Given the description of an element on the screen output the (x, y) to click on. 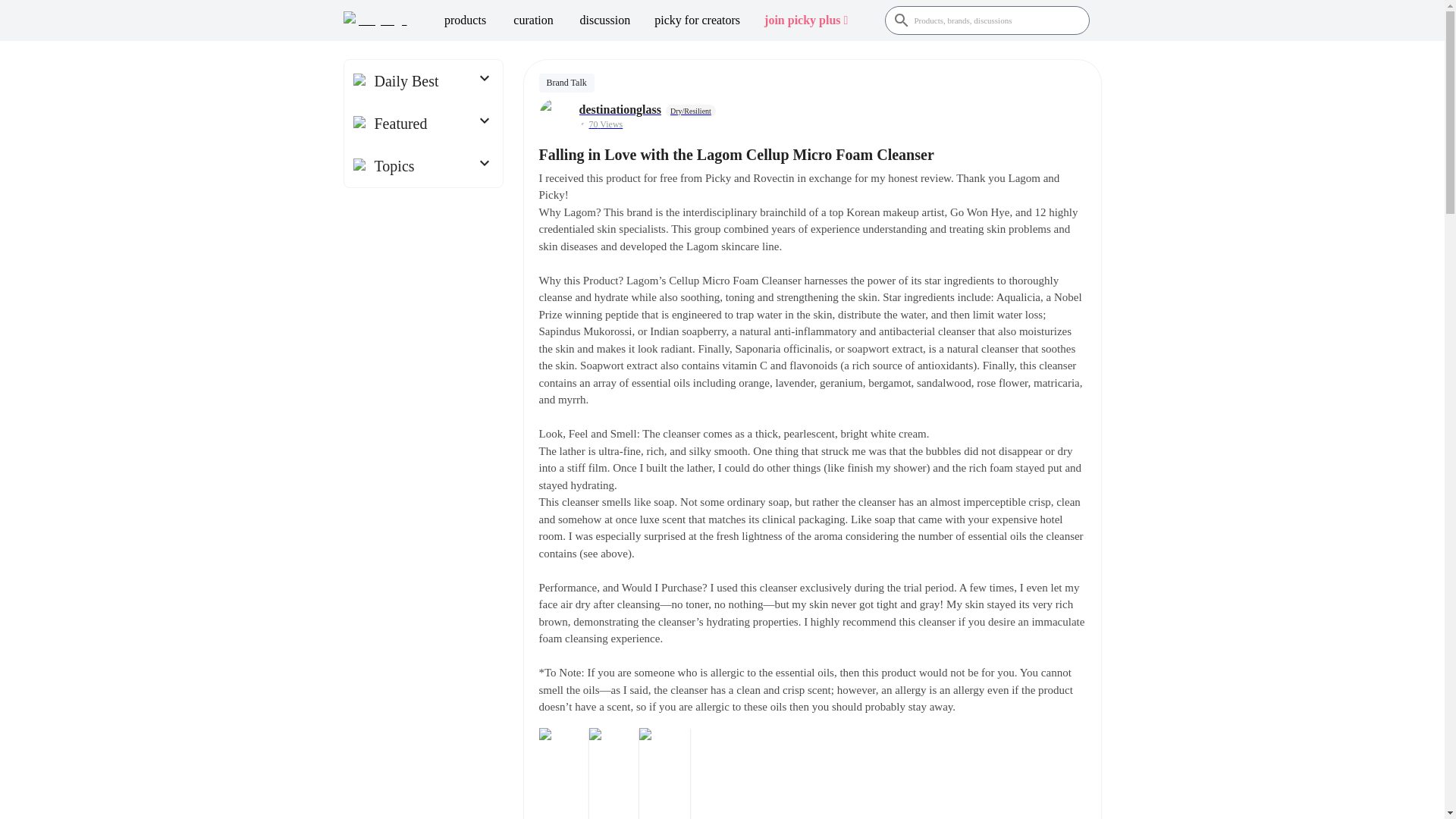
products (464, 20)
discussion (605, 20)
picky for creators (697, 20)
curation (533, 20)
